Given the description of an element on the screen output the (x, y) to click on. 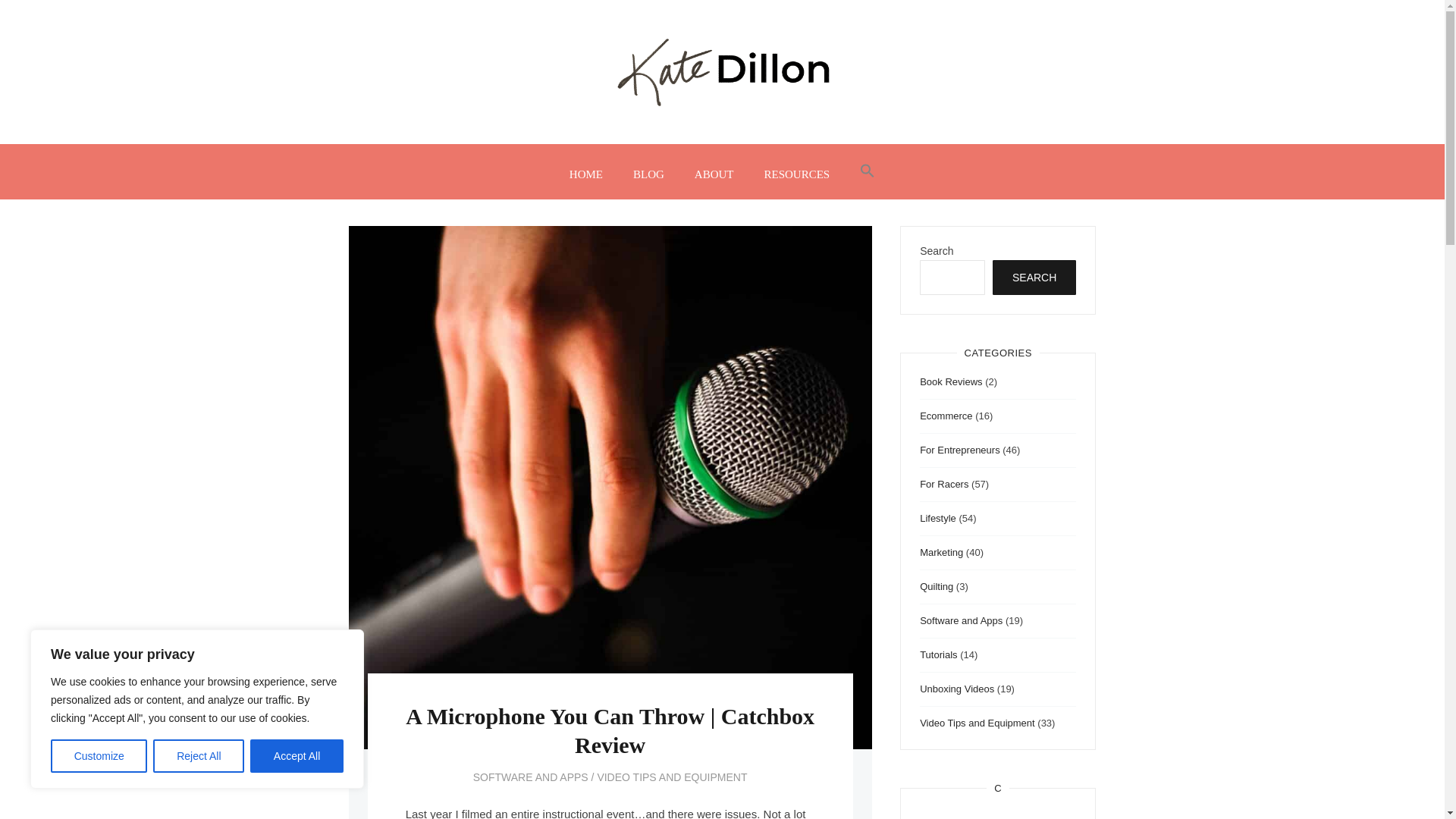
Reject All (198, 756)
SOFTWARE AND APPS (530, 776)
For Entrepreneurs (960, 449)
Book Reviews (950, 381)
BLOG (648, 174)
VIDEO TIPS AND EQUIPMENT (671, 776)
RESOURCES (796, 174)
For Racers (944, 483)
Ecommerce (946, 415)
SEARCH (1033, 277)
Accept All (296, 756)
ABOUT (714, 174)
Customize (98, 756)
HOME (585, 174)
